Given the description of an element on the screen output the (x, y) to click on. 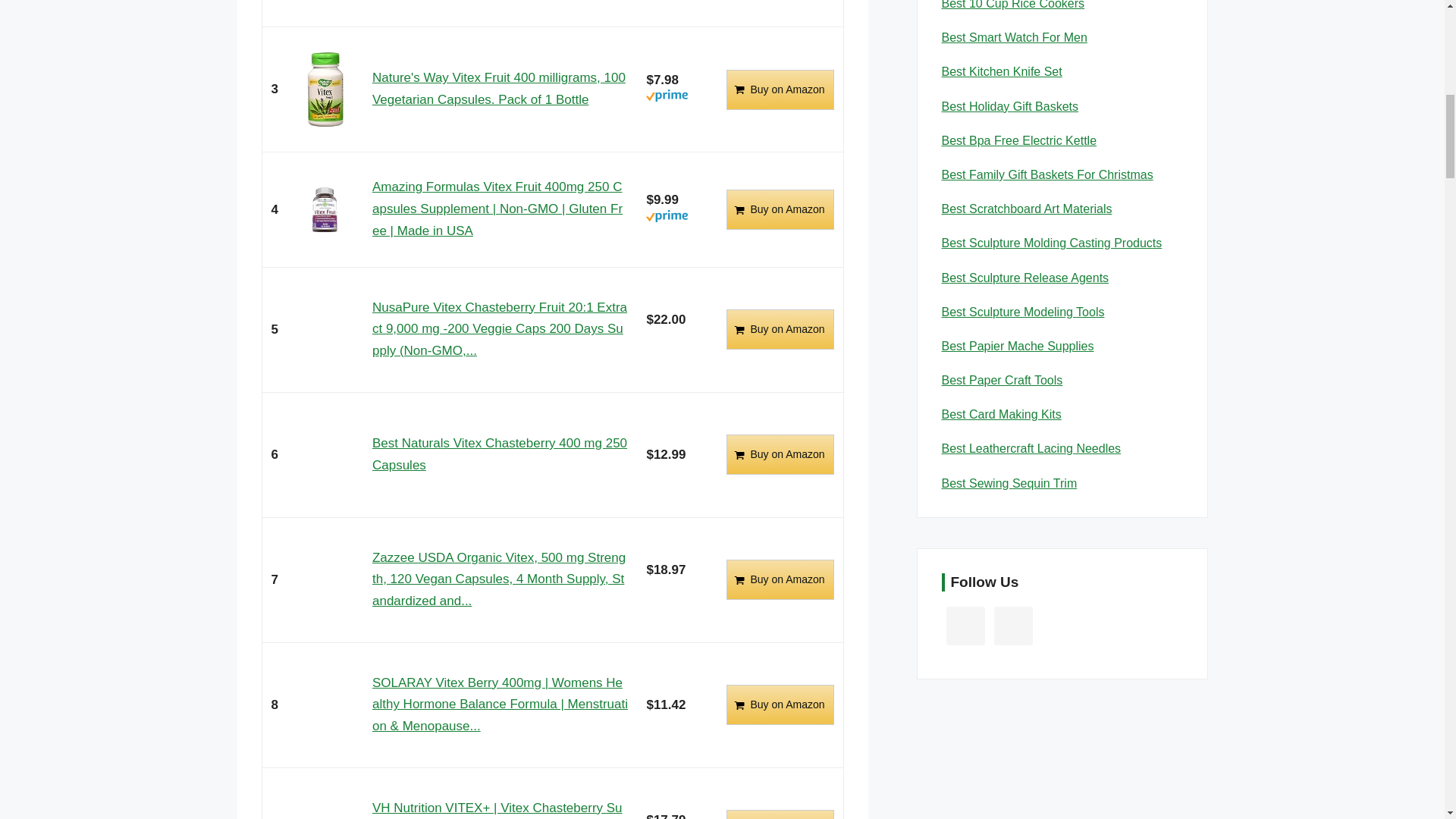
Buy on Amazon (779, 209)
Buy on Amazon (779, 579)
Buy on Amazon (779, 209)
Amazon Prime (666, 98)
Amazon Prime (666, 219)
Buy on Amazon (779, 89)
Buy on Amazon (779, 454)
Buy on Amazon (779, 329)
Best Naturals Vitex Chasteberry 400 mg 250 Capsules (499, 453)
Buy on Amazon (779, 89)
